Given the description of an element on the screen output the (x, y) to click on. 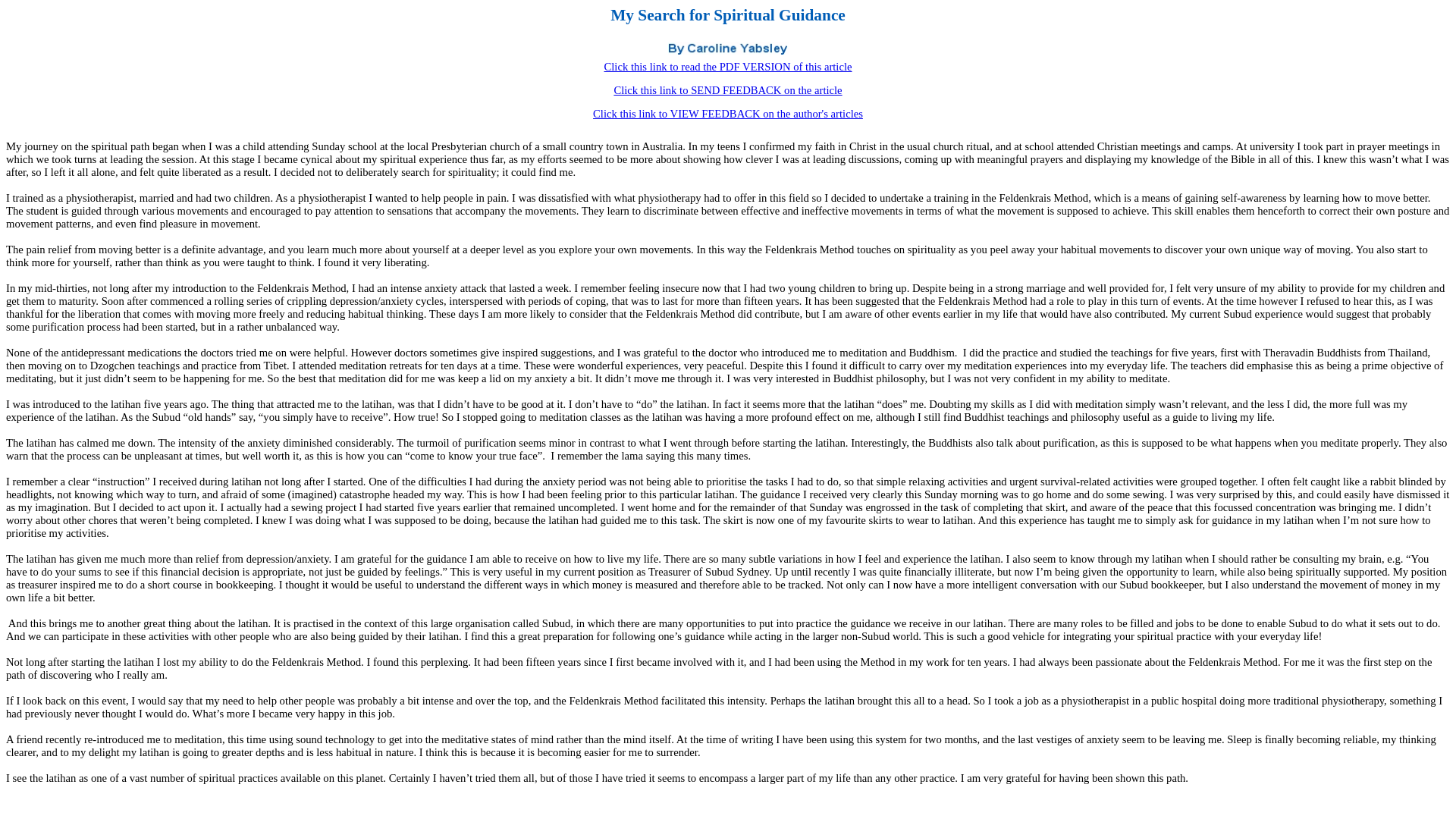
Click this link to VIEW FEEDBACK on the author's articles (727, 113)
Click this link to SEND FEEDBACK on the article (726, 90)
Click this link to read the PDF VERSION of this article (727, 66)
